Given the description of an element on the screen output the (x, y) to click on. 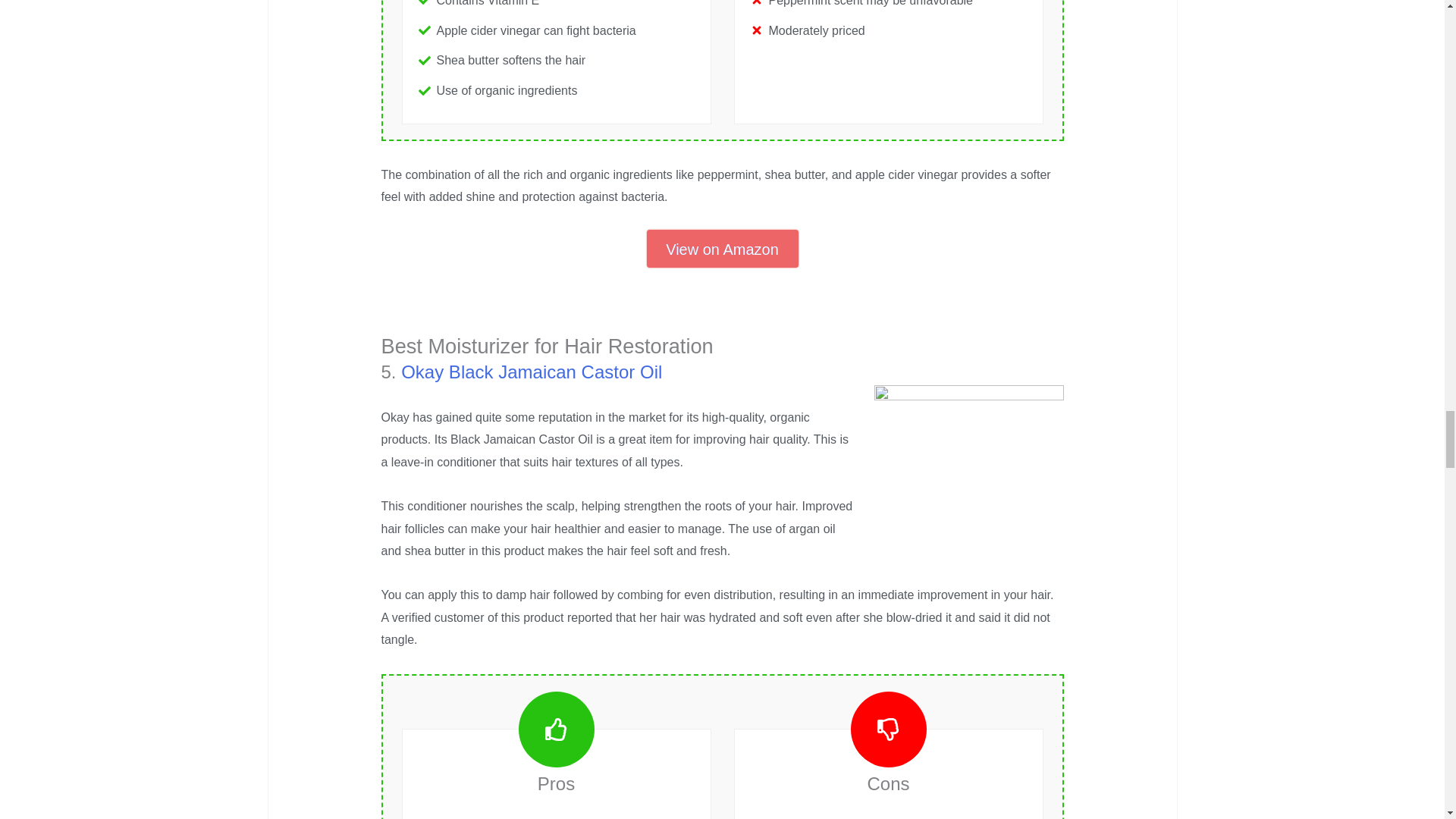
Okay Black Jamaican Castor Oil (531, 371)
View on Amazon (721, 248)
